Given the description of an element on the screen output the (x, y) to click on. 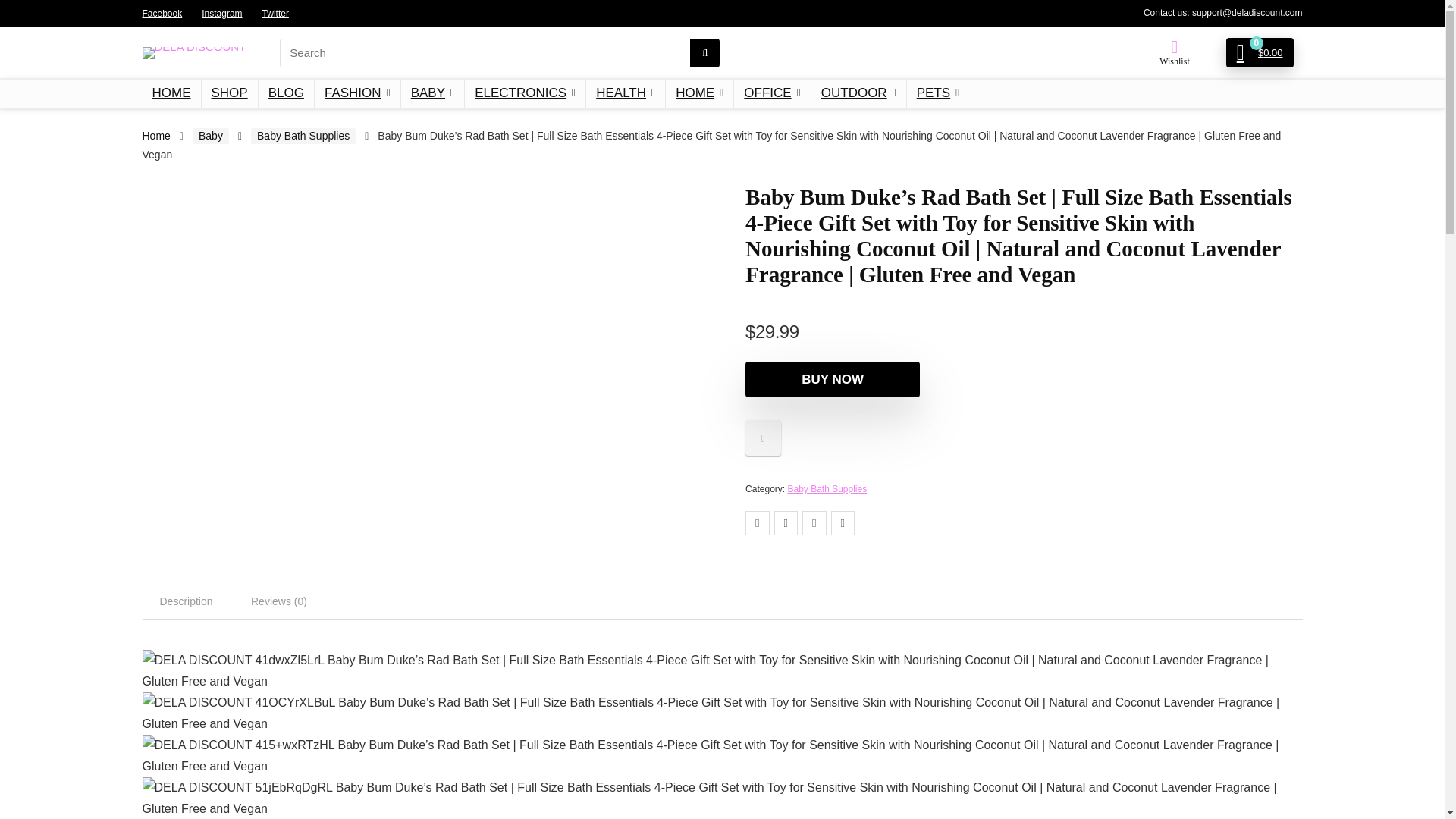
BABY (432, 93)
HEALTH (625, 93)
Twitter (275, 12)
BLOG (286, 93)
Instagram (221, 12)
HOME (171, 93)
SHOP (229, 93)
ELECTRONICS (524, 93)
FASHION (357, 93)
Facebook (162, 12)
HOME (699, 93)
